Given the description of an element on the screen output the (x, y) to click on. 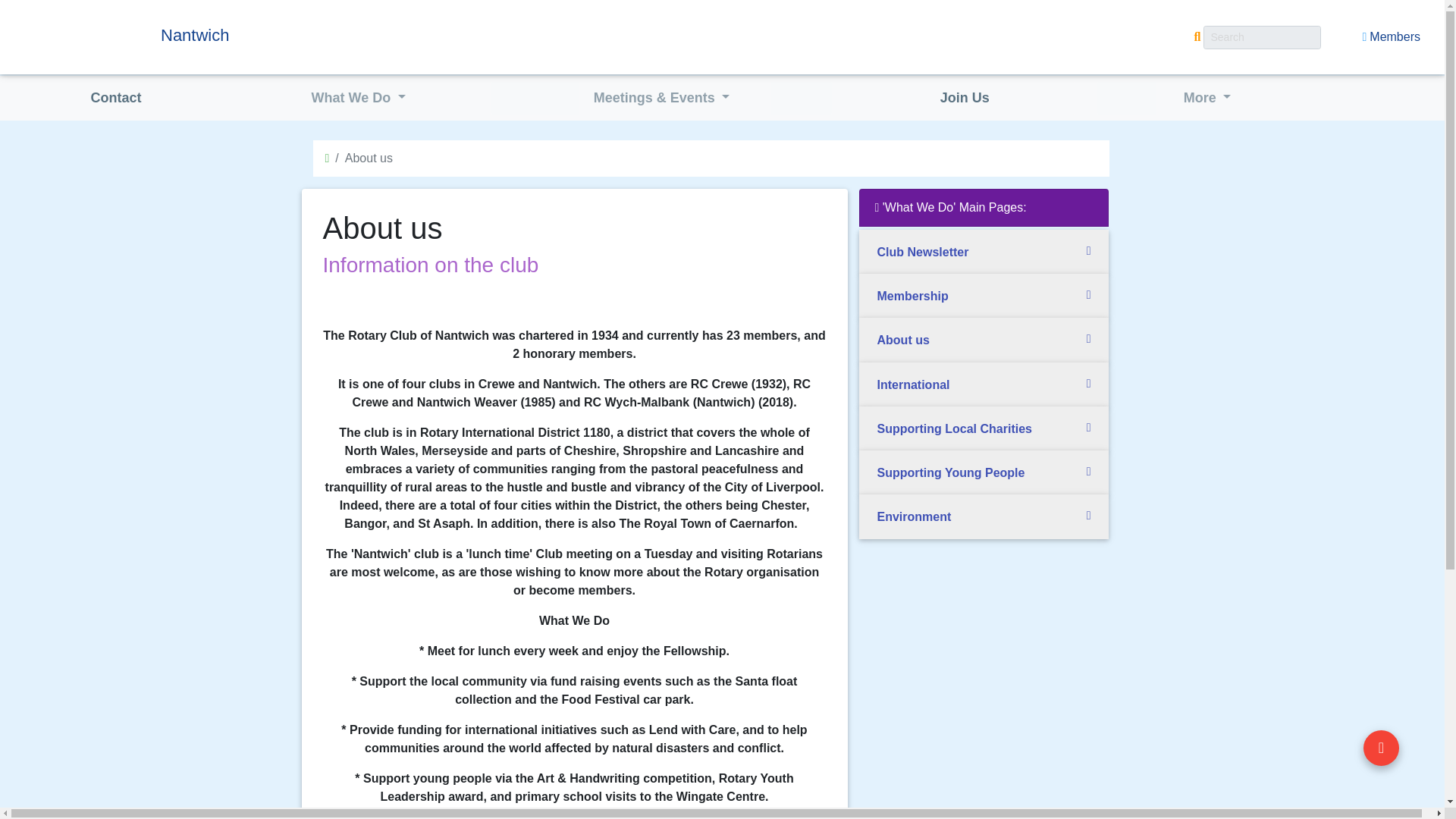
Nantwich (299, 35)
Members (1390, 37)
What We Do (358, 97)
Contact (115, 97)
